Given the description of an element on the screen output the (x, y) to click on. 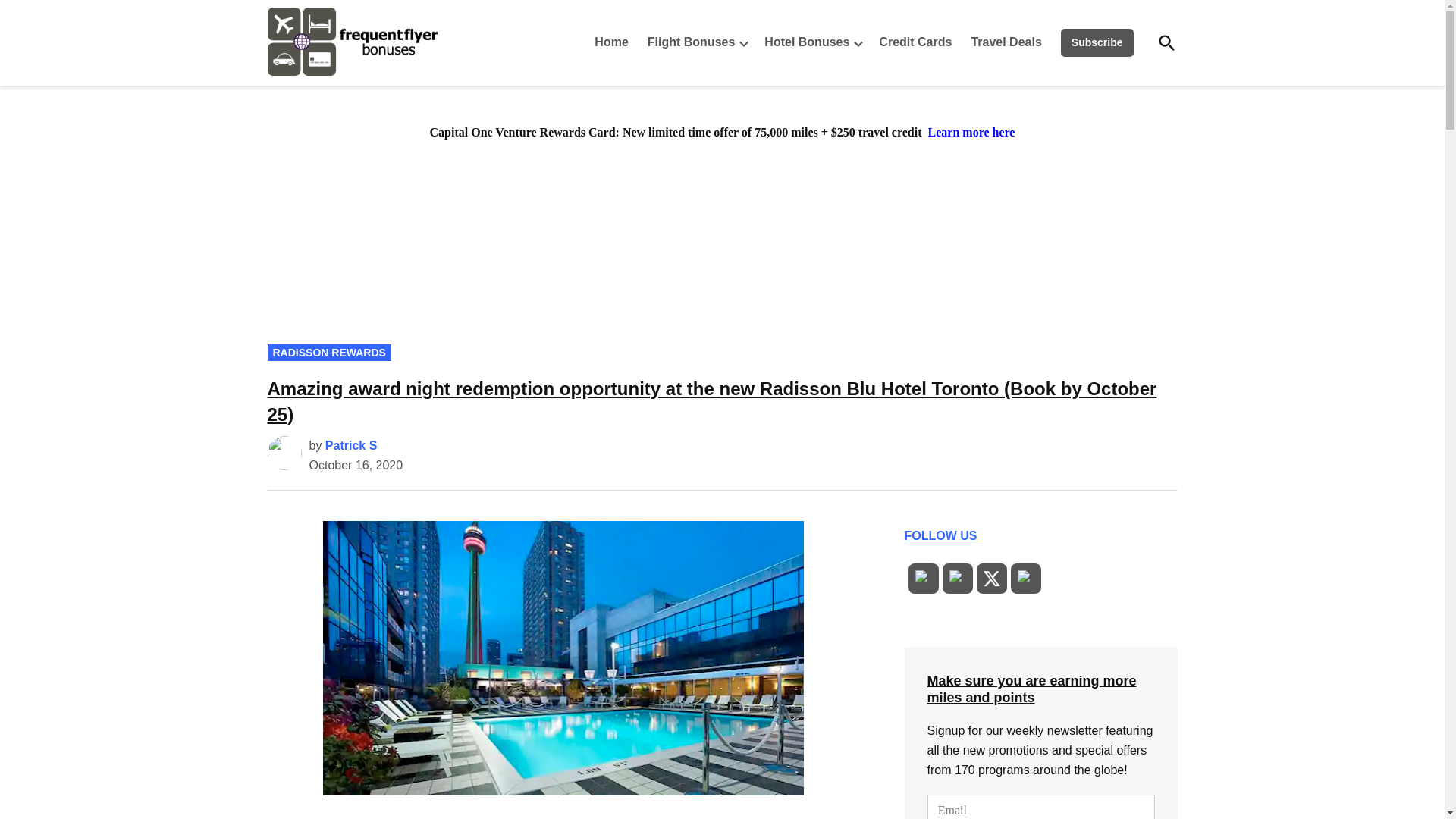
Frequent Flyer Bonuses (483, 74)
Open dropdown menu (857, 42)
Facebook (957, 578)
Instagram (1025, 578)
Hotel Bonuses (802, 41)
Open dropdown menu (743, 42)
Home (614, 41)
Twitter (990, 578)
RSS (922, 578)
Flight Bonuses (687, 41)
